Given the description of an element on the screen output the (x, y) to click on. 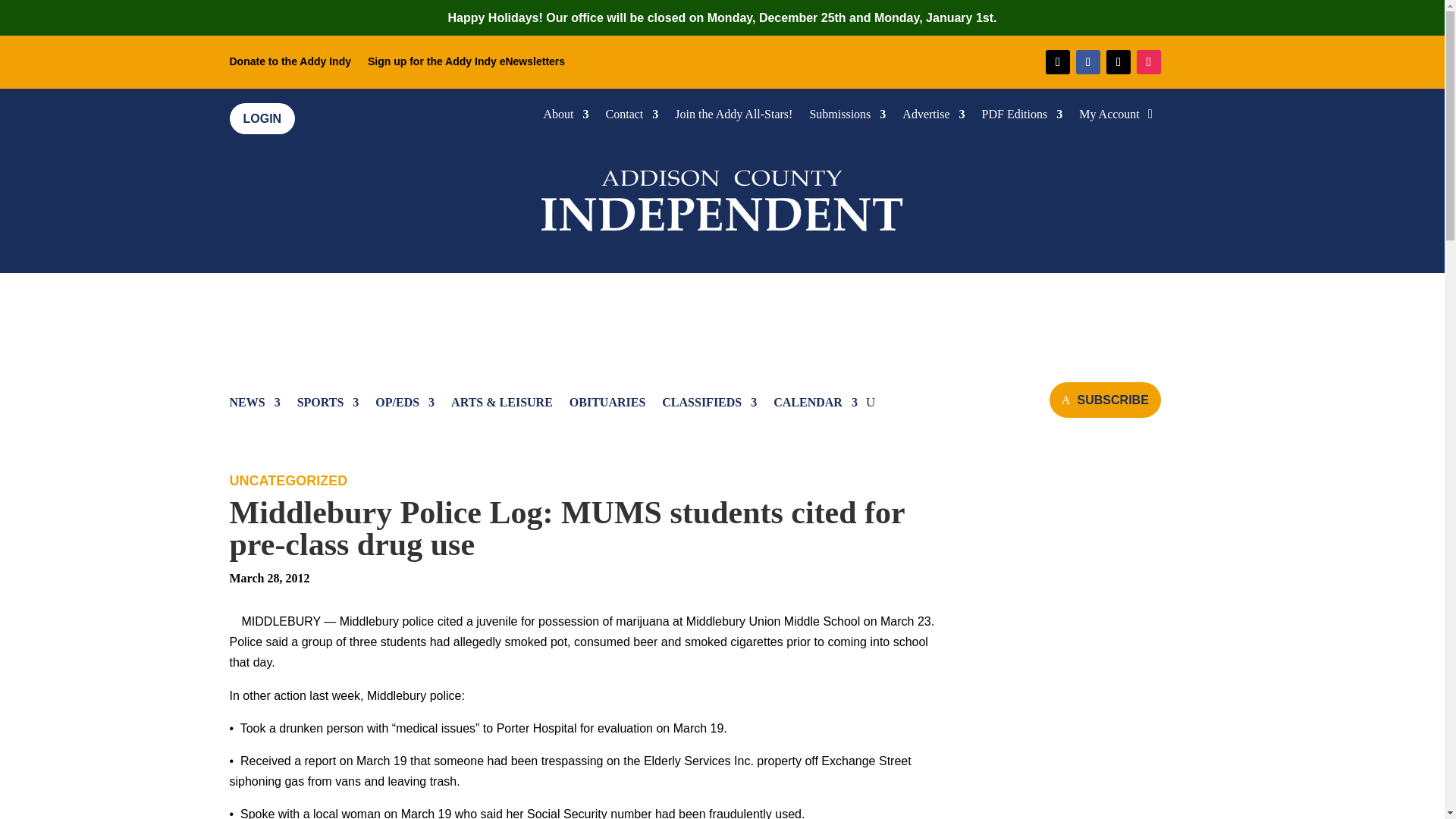
addison-logo (721, 197)
Join the Addy All-Stars! (733, 117)
3rd party ad content (722, 318)
My Account (1109, 117)
Sign up for the Addy Indy eNewsletters (466, 64)
Submissions (847, 117)
Follow on Mail (1057, 61)
Follow on Instagram (1148, 61)
Donate to the Addy Indy (289, 64)
Contact (632, 117)
About (566, 117)
LOGIN (261, 118)
Follow on Facebook (1087, 61)
Follow on X (1118, 61)
3rd party ad content (1100, 646)
